Given the description of an element on the screen output the (x, y) to click on. 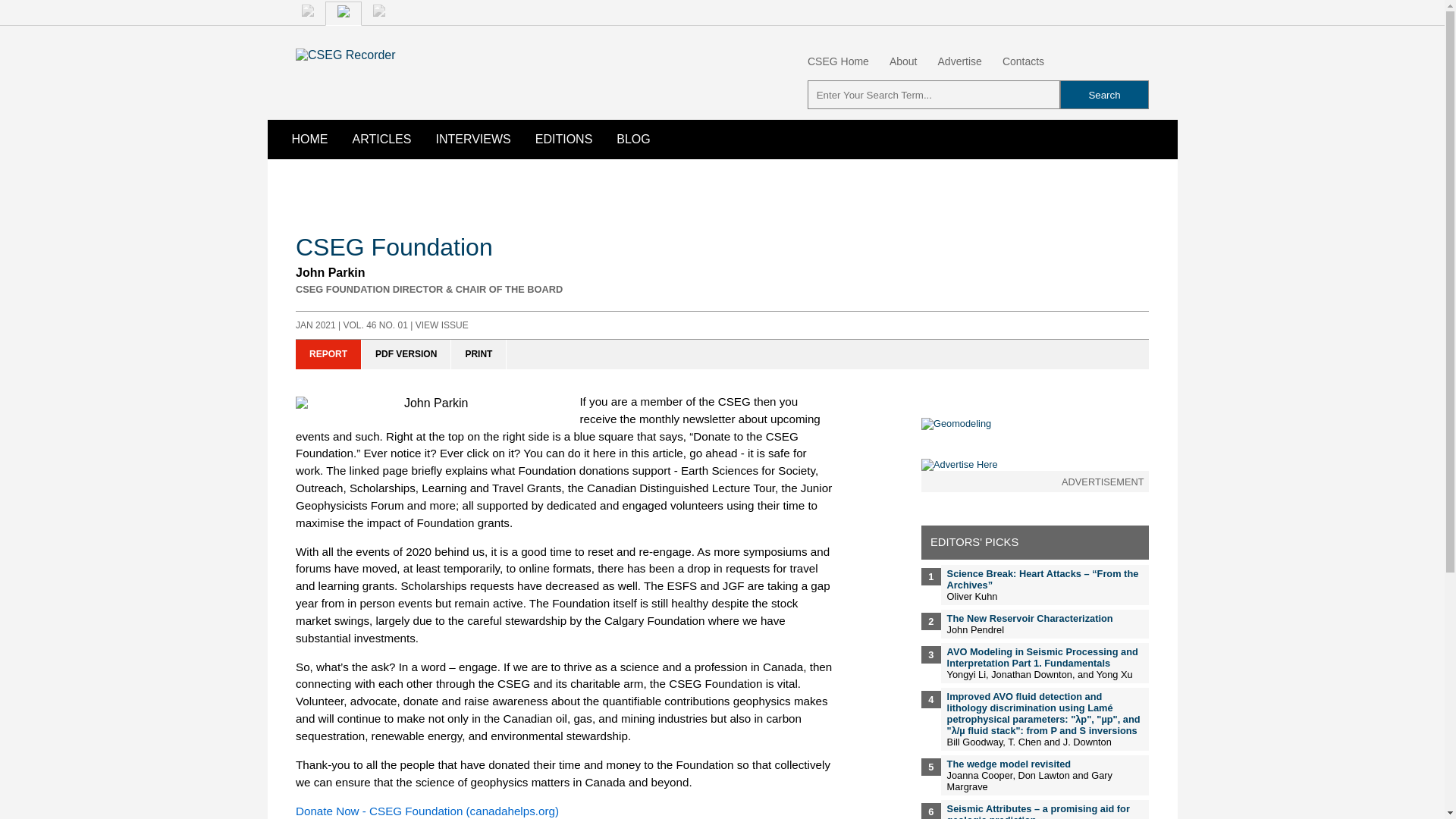
CSEG Home (838, 61)
Contacts (1023, 61)
The wedge model revisited (1009, 763)
INTERVIEWS (472, 138)
Search (1103, 94)
ARTICLES (381, 138)
PRINT (478, 354)
The New Reservoir Characterization (1030, 618)
PDF VERSION (406, 354)
Advertise (959, 61)
Search (1103, 94)
BLOG (633, 138)
REPORT (328, 354)
EDITIONS (563, 138)
